Given the description of an element on the screen output the (x, y) to click on. 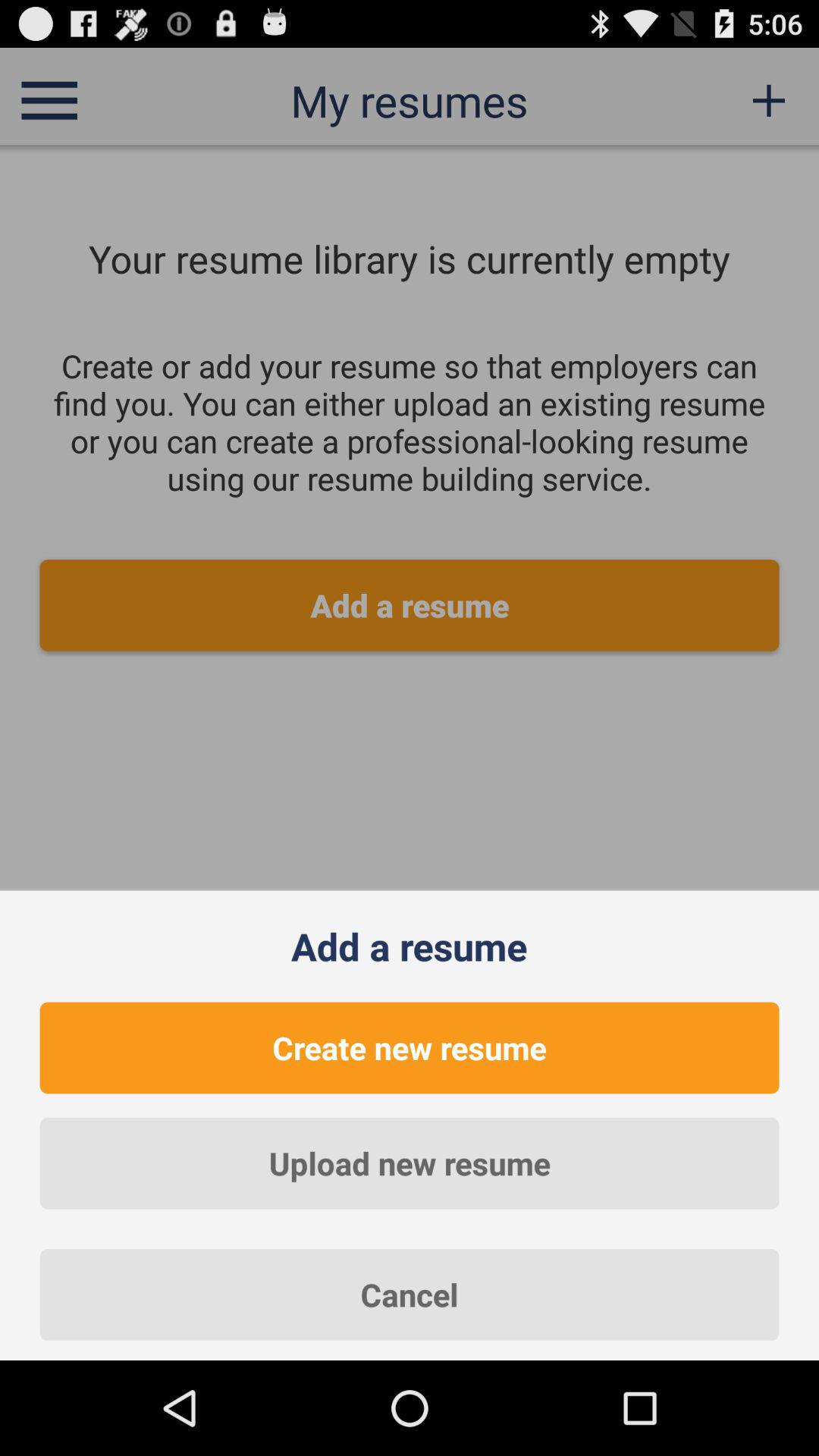
choose item below upload new resume (409, 1294)
